Given the description of an element on the screen output the (x, y) to click on. 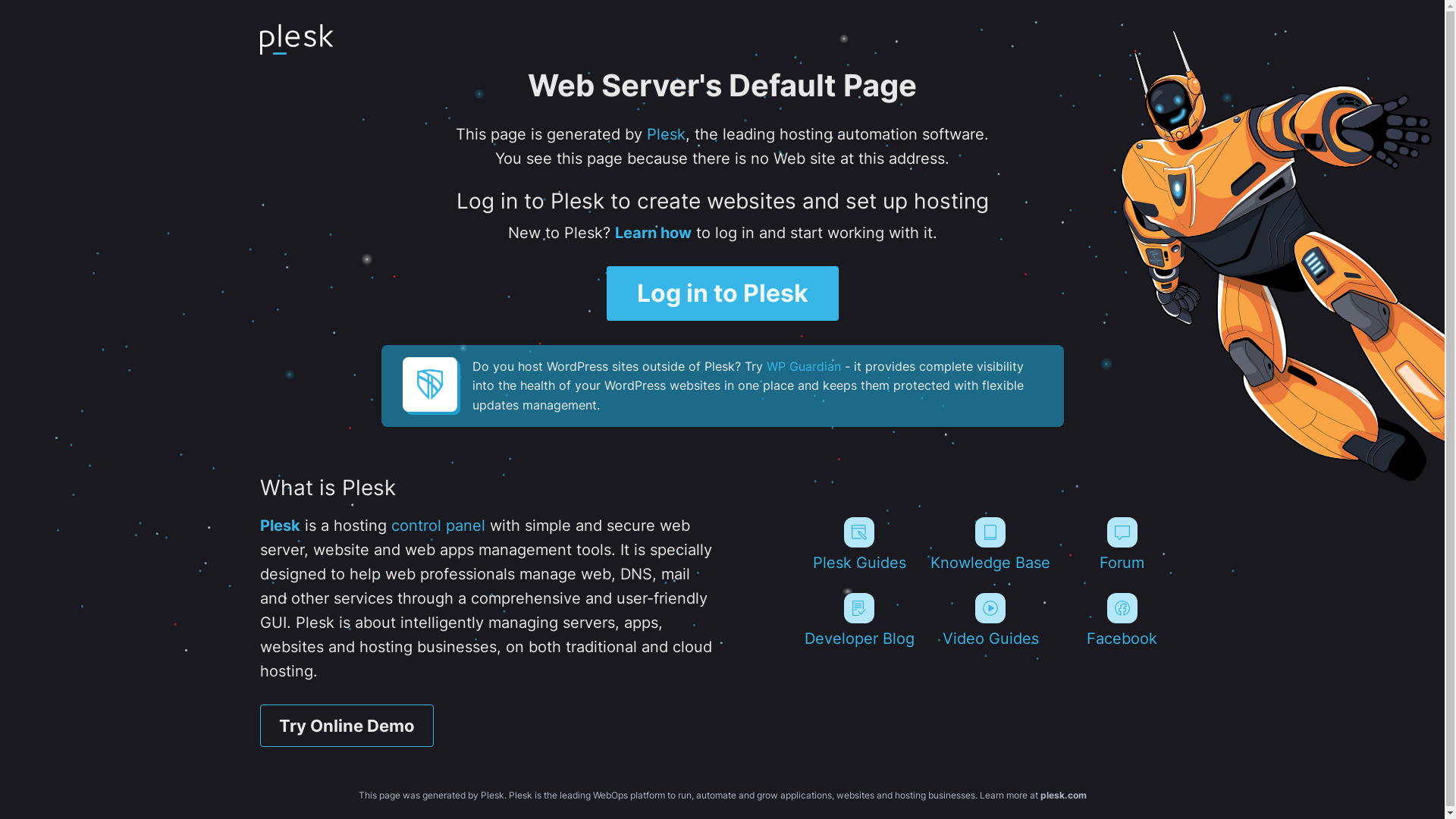
Log in to Plesk Element type: text (722, 293)
Plesk Guides Element type: text (858, 544)
Try Online Demo Element type: text (346, 725)
Video Guides Element type: text (990, 620)
plesk.com Element type: text (1063, 794)
Developer Blog Element type: text (858, 620)
Plesk Element type: text (665, 134)
Facebook Element type: text (1121, 620)
control panel Element type: text (438, 525)
Knowledge Base Element type: text (990, 544)
WP Guardian Element type: text (802, 365)
Forum Element type: text (1121, 544)
Learn how Element type: text (652, 232)
Plesk Element type: text (279, 525)
